Given the description of an element on the screen output the (x, y) to click on. 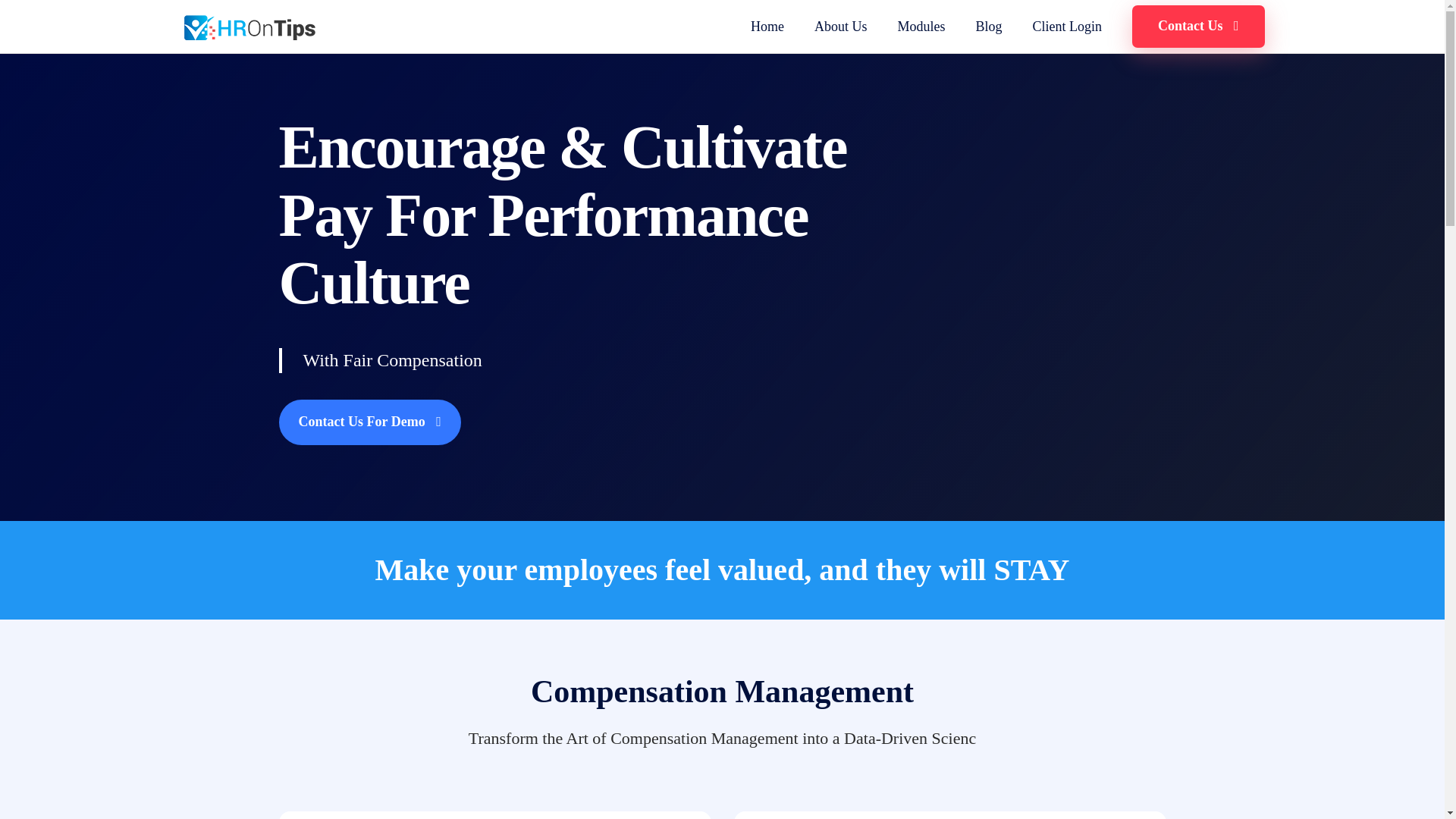
Home (766, 26)
Contact Us (1198, 25)
Modules (921, 26)
Client Login (1064, 26)
Contact Us For Demo (370, 421)
Blog (988, 26)
About Us (840, 26)
